Given the description of an element on the screen output the (x, y) to click on. 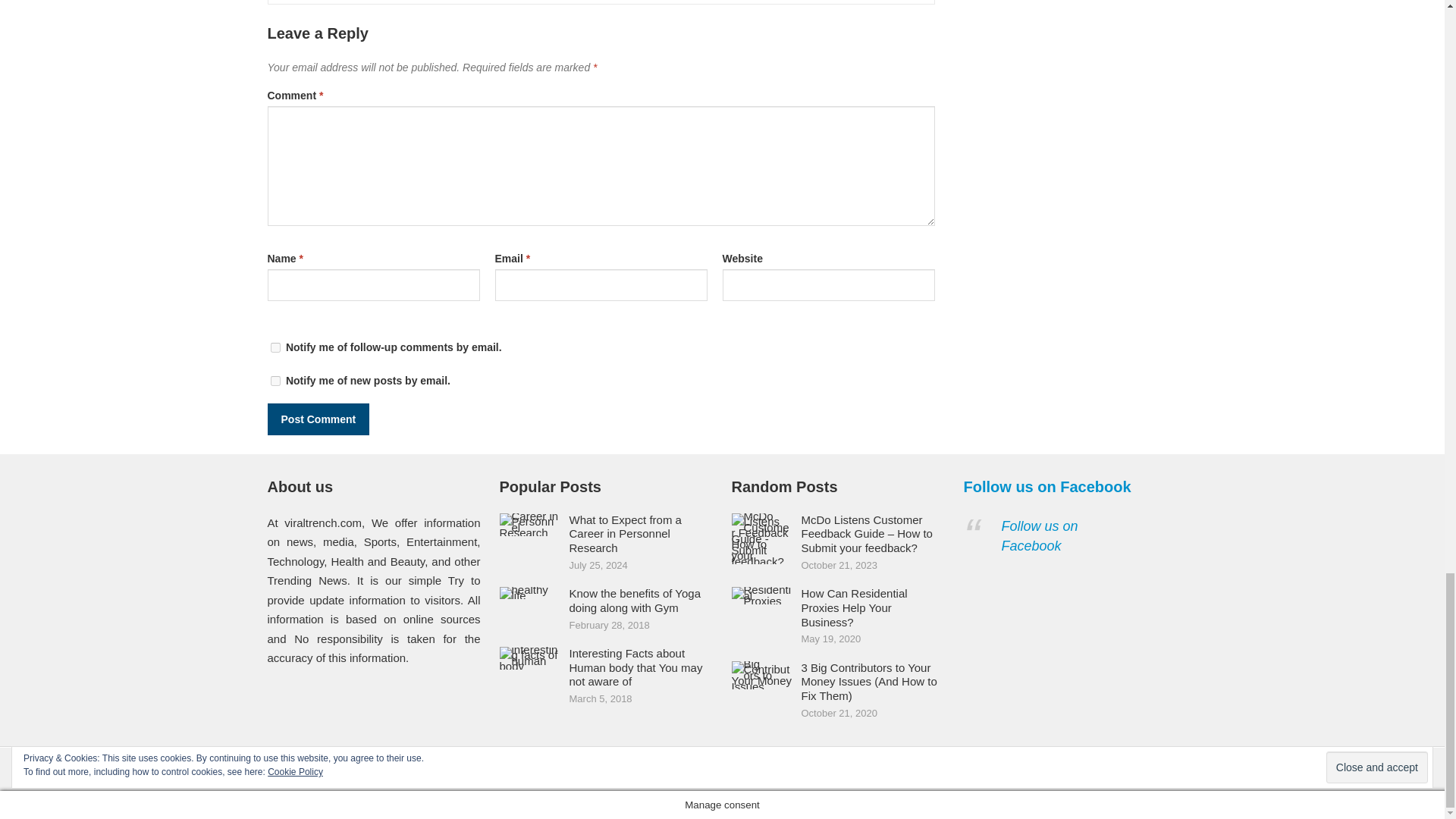
subscribe (274, 347)
Post Comment (317, 418)
subscribe (274, 380)
